Given the description of an element on the screen output the (x, y) to click on. 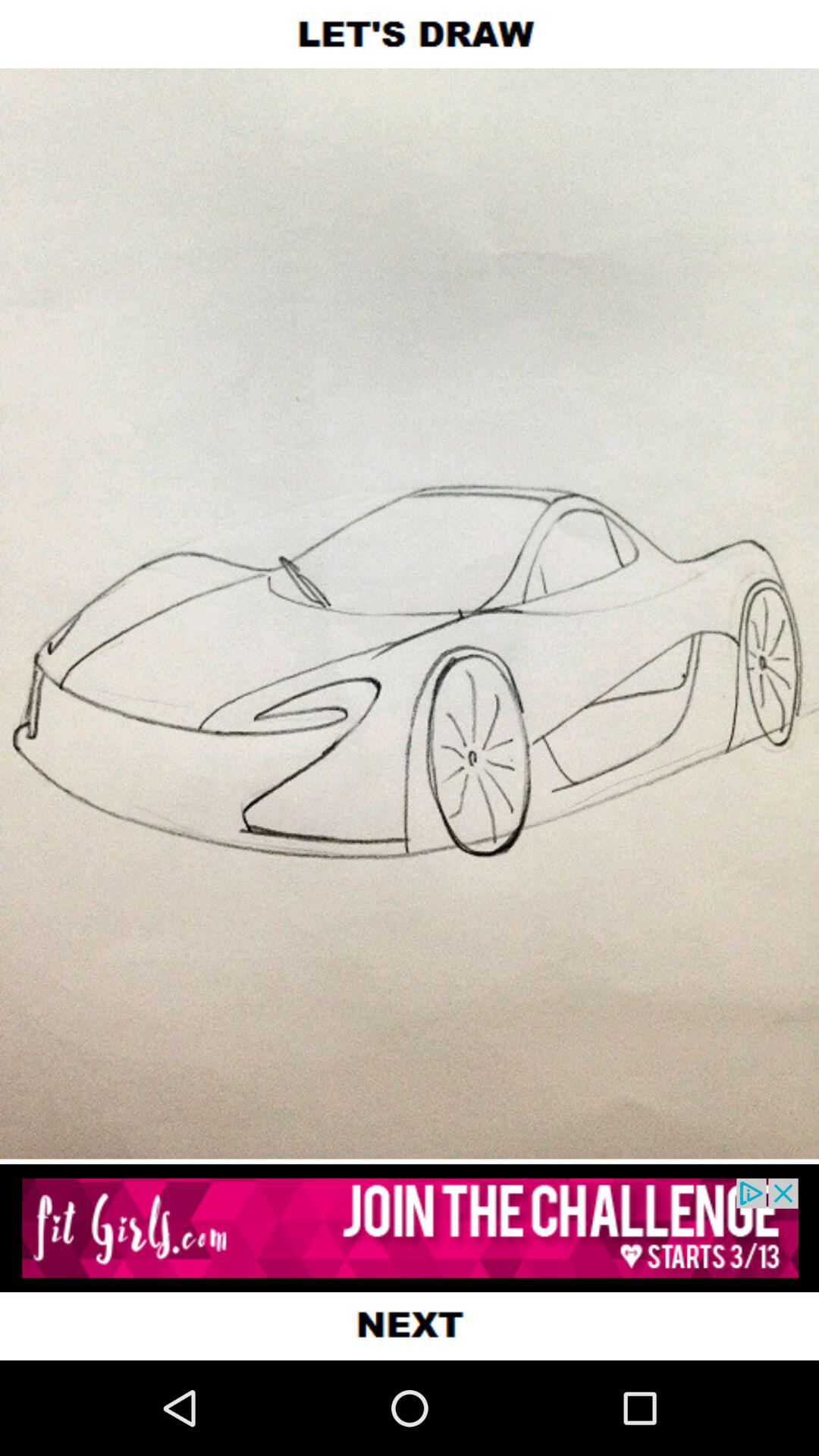
go to next image (409, 1326)
